Given the description of an element on the screen output the (x, y) to click on. 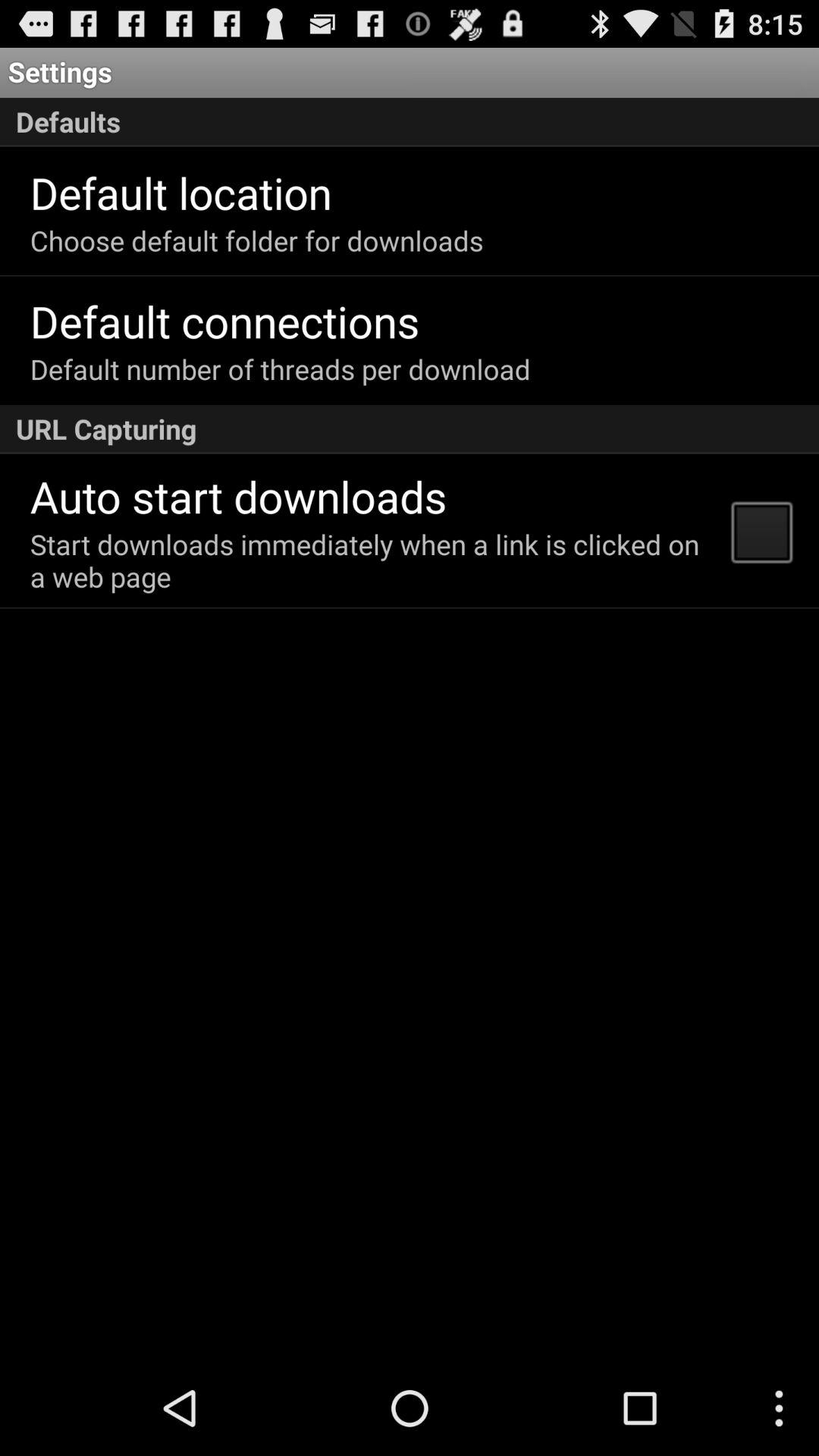
turn off app next to the start downloads immediately app (761, 530)
